Given the description of an element on the screen output the (x, y) to click on. 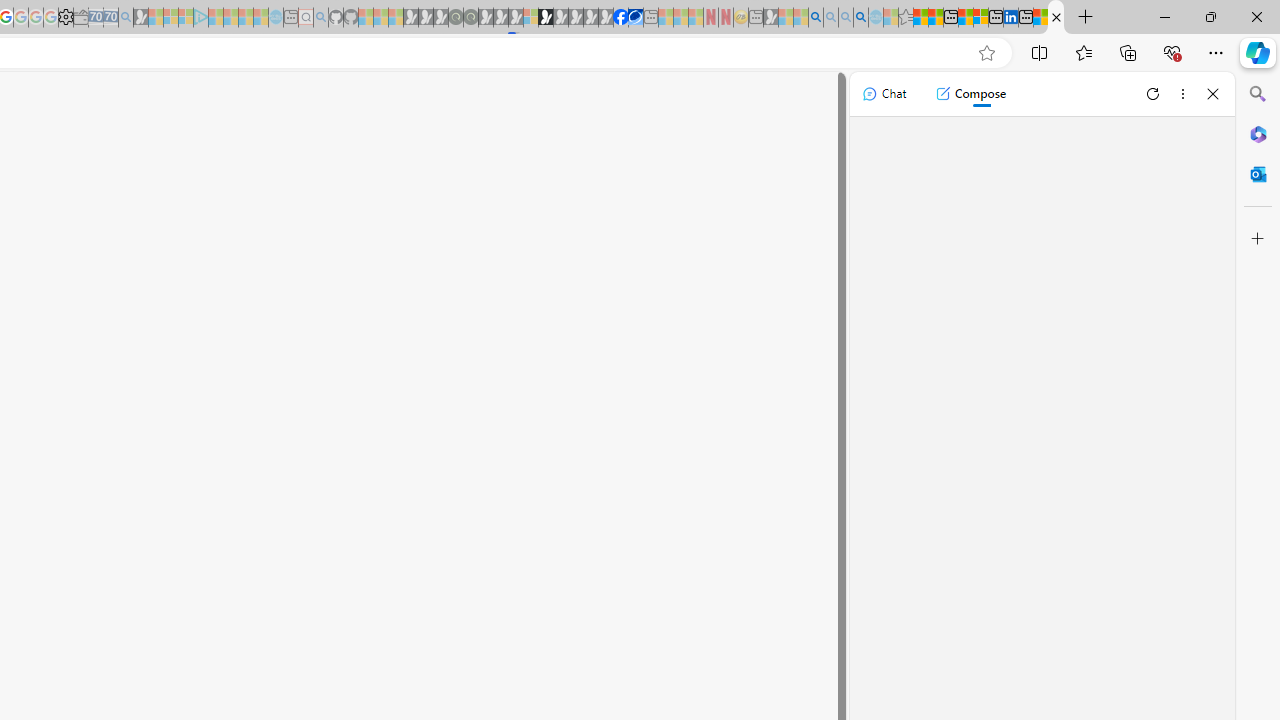
MSN - Sleeping (771, 17)
Future Focus Report 2024 - Sleeping (470, 17)
AQI & Health | AirNow.gov (635, 17)
